Given the description of an element on the screen output the (x, y) to click on. 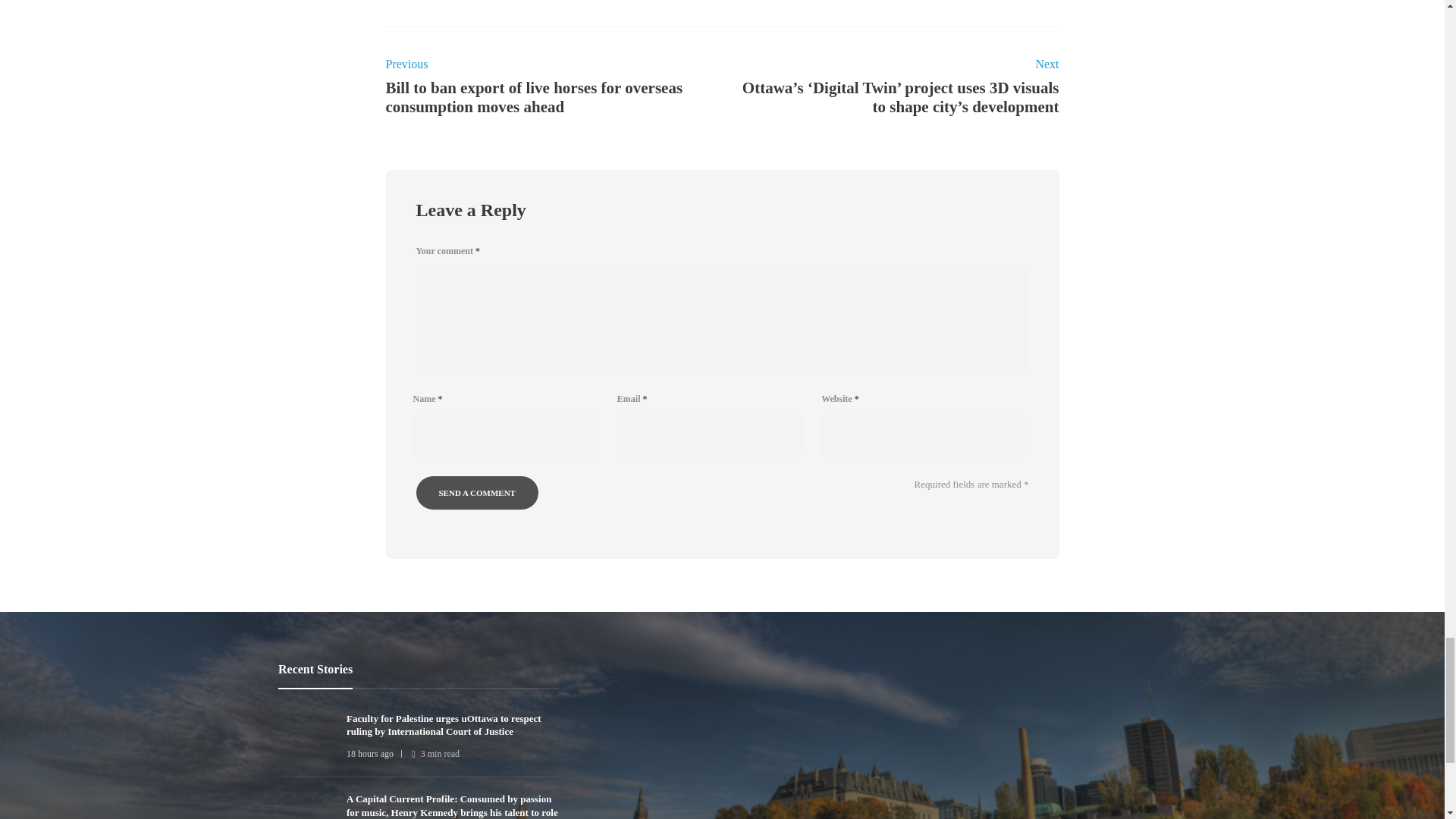
Send a comment (475, 492)
